Given the description of an element on the screen output the (x, y) to click on. 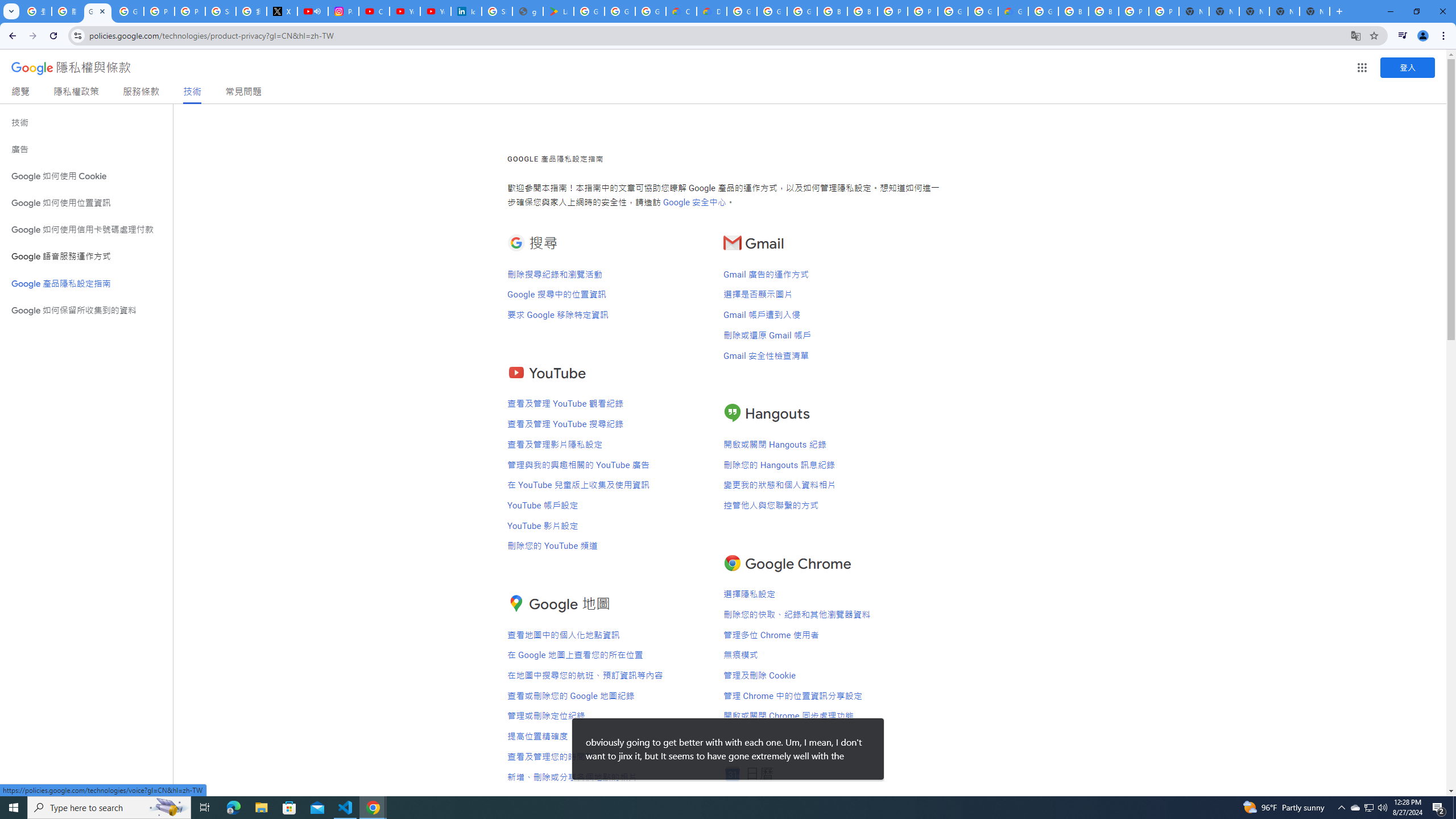
Google Cloud Platform (741, 11)
